Given the description of an element on the screen output the (x, y) to click on. 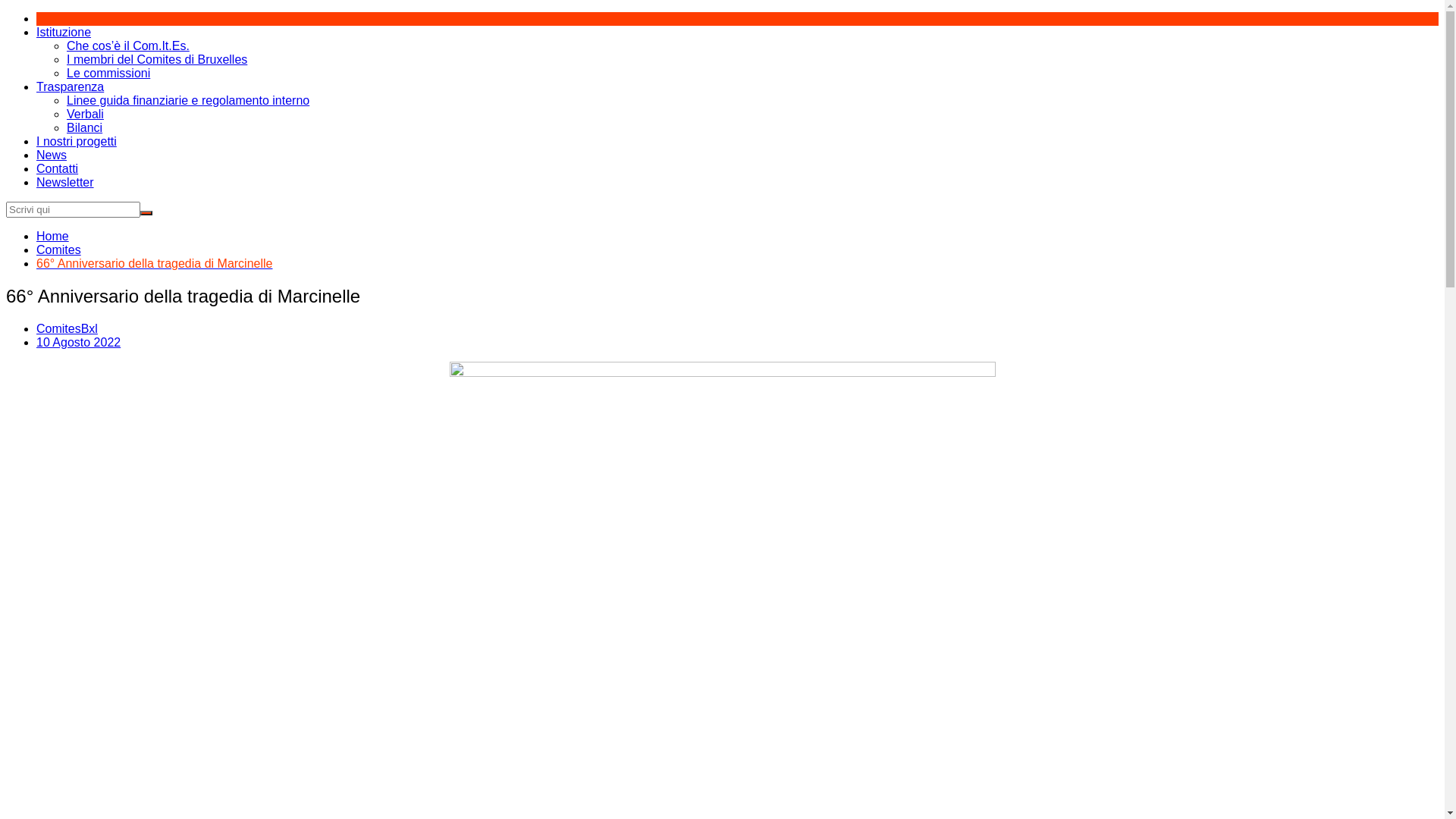
10 Agosto 2022 Element type: text (78, 341)
I nostri progetti Element type: text (76, 140)
Comites Element type: text (58, 249)
Verbali Element type: text (84, 113)
ComitesBxl Element type: text (66, 328)
Bilanci Element type: text (84, 127)
Salta al contenuto Element type: text (5, 11)
I membri del Comites di Bruxelles Element type: text (156, 59)
Le commissioni Element type: text (108, 72)
News Element type: text (51, 154)
Contatti Element type: text (57, 168)
Newsletter Element type: text (65, 181)
Linee guida finanziarie e regolamento interno Element type: text (187, 100)
Istituzione Element type: text (63, 31)
Home Element type: text (52, 235)
Comites Belgio Element type: text (46, 18)
Trasparenza Element type: text (69, 86)
